Given the description of an element on the screen output the (x, y) to click on. 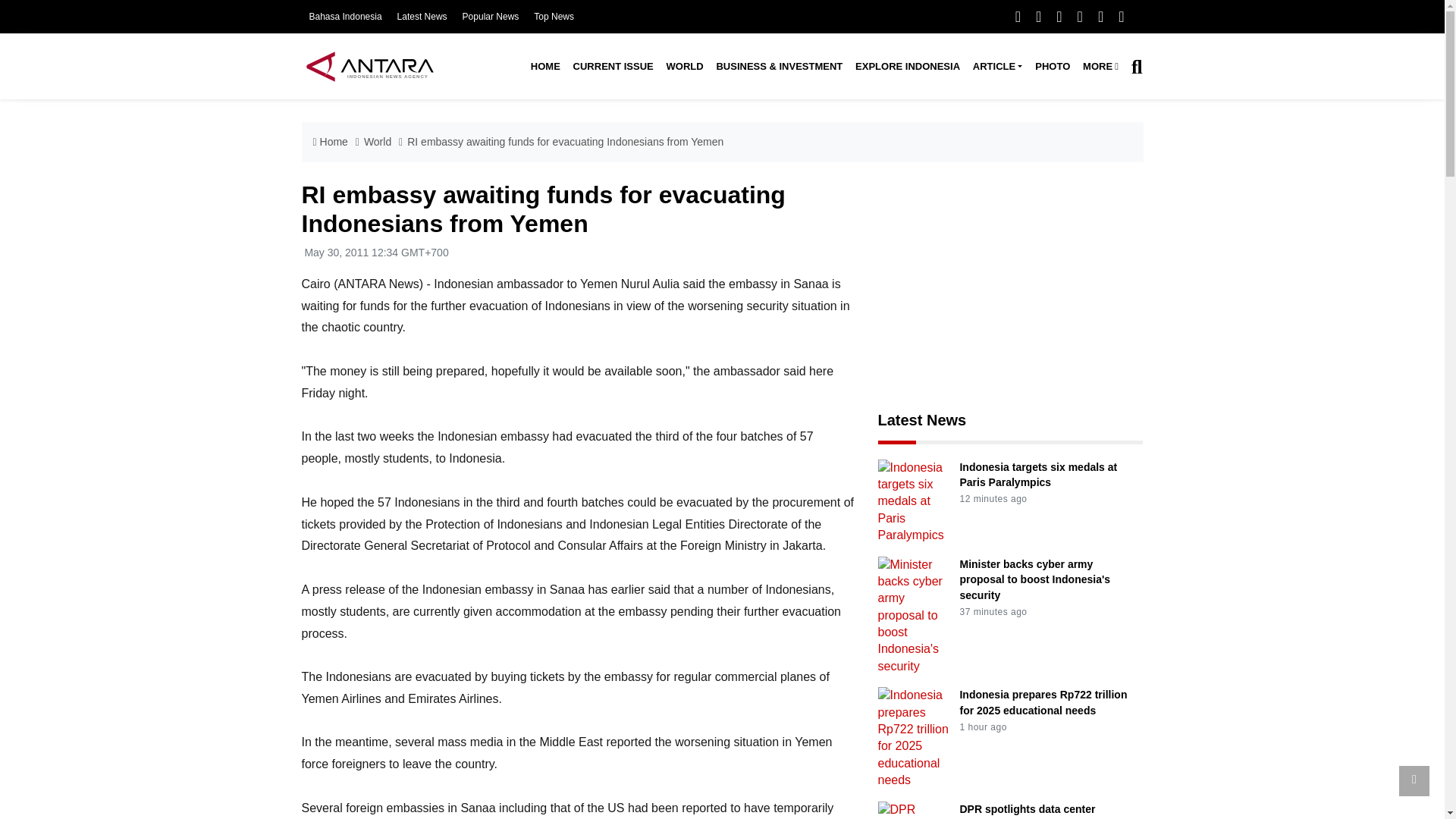
Article (996, 66)
Top News (553, 16)
ANTARA News (369, 66)
Bahasa Indonesia (344, 16)
Bahasa Indonesia (344, 16)
EXPLORE INDONESIA (907, 66)
ARTICLE (996, 66)
CURRENT ISSUE (612, 66)
Current Issue (612, 66)
